Given the description of an element on the screen output the (x, y) to click on. 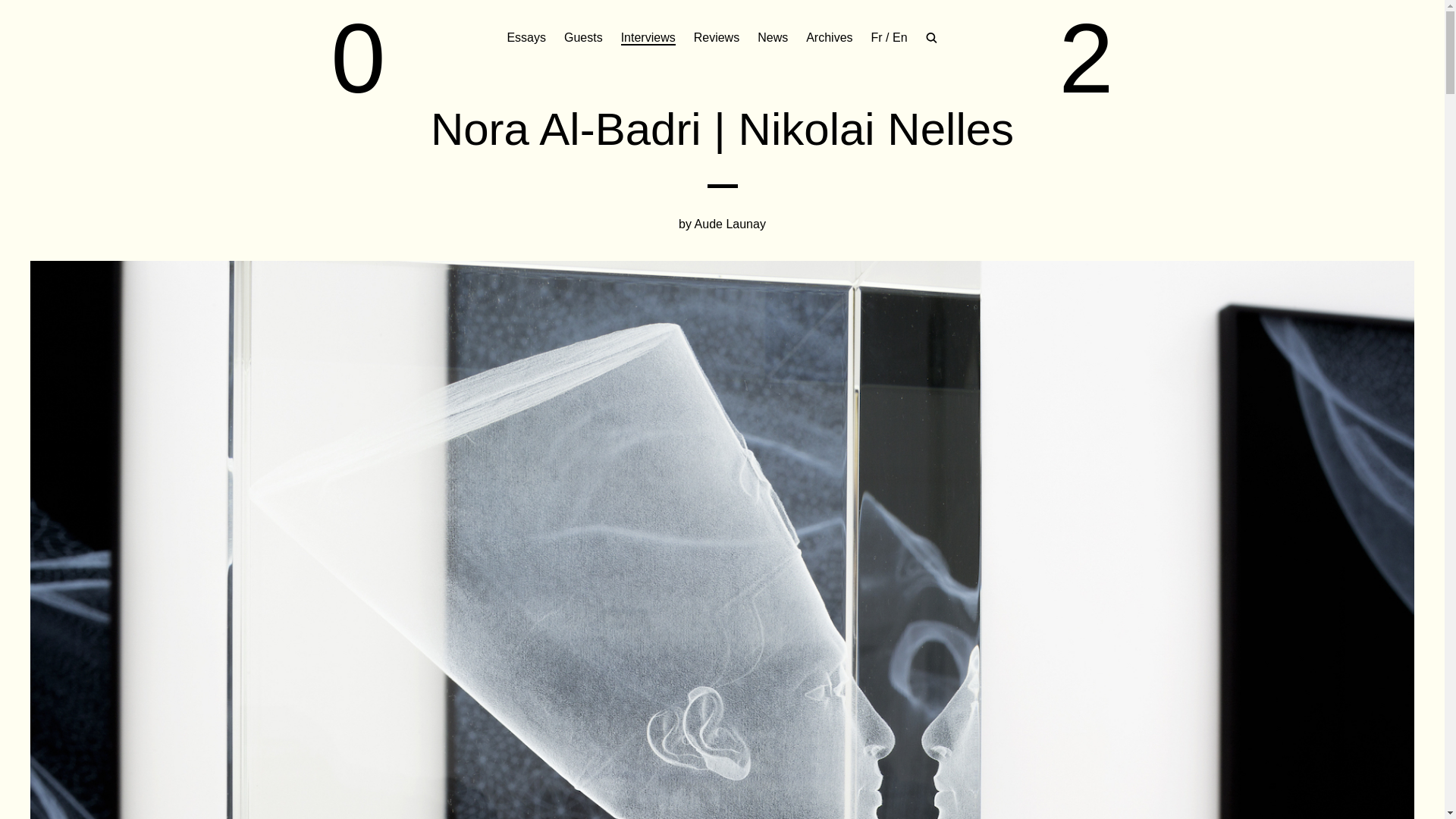
Reviews (716, 37)
Essays (526, 37)
News (772, 37)
En (899, 37)
Guests (583, 37)
Interviews (648, 38)
Archives (828, 37)
